Given the description of an element on the screen output the (x, y) to click on. 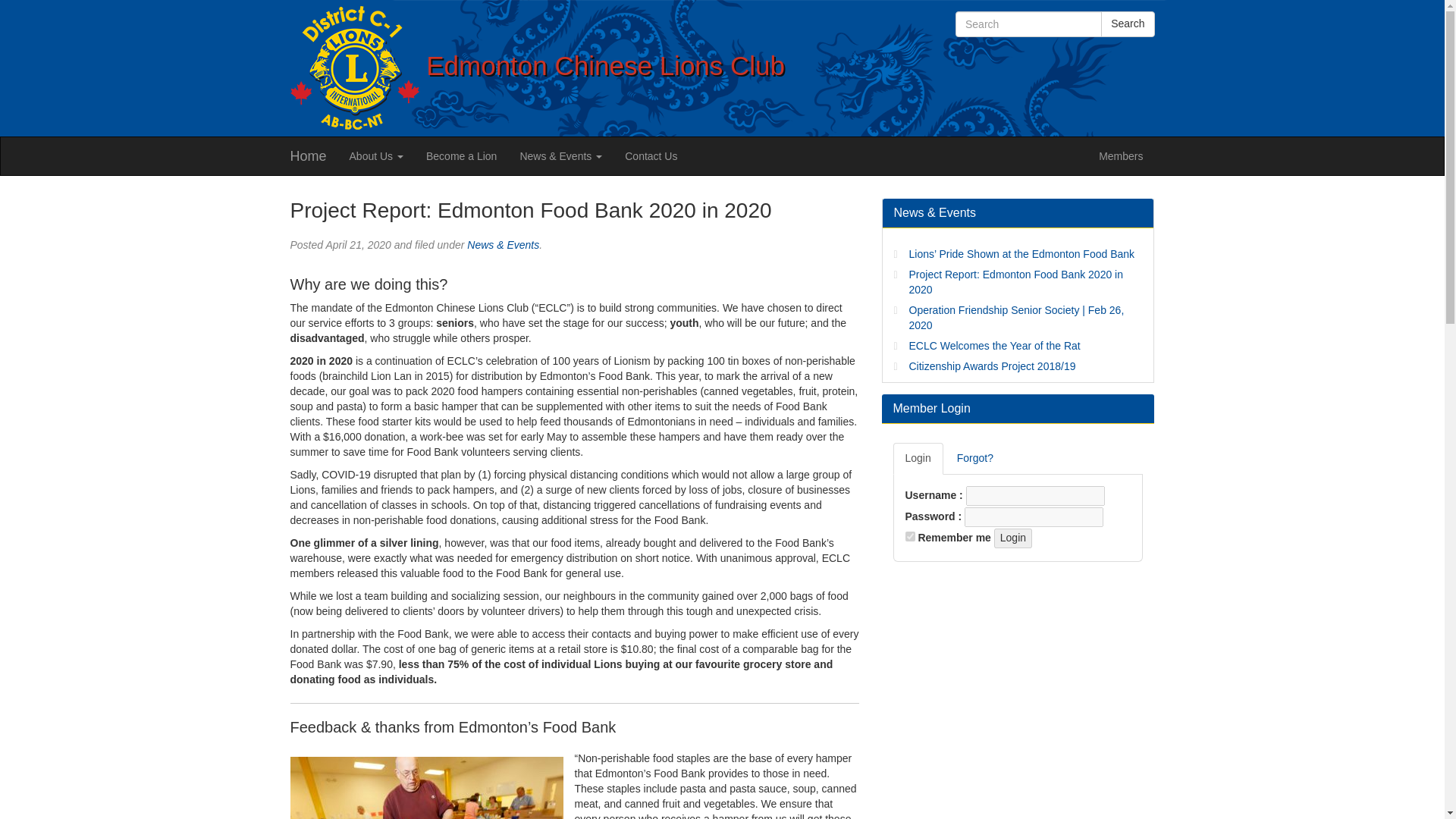
About Us (375, 156)
Contact Us (650, 156)
Home (308, 156)
About Us (375, 156)
Project Report: Edmonton Food Bank 2020 in 2020 (1015, 281)
Lions International (354, 65)
Follow us on Twitter (972, 55)
Forgot? (975, 459)
Members (1120, 156)
Login (1013, 537)
Follow us on Facebook (960, 55)
Login (918, 459)
Become a Lion (461, 156)
Search (1127, 23)
Login (1013, 537)
